Given the description of an element on the screen output the (x, y) to click on. 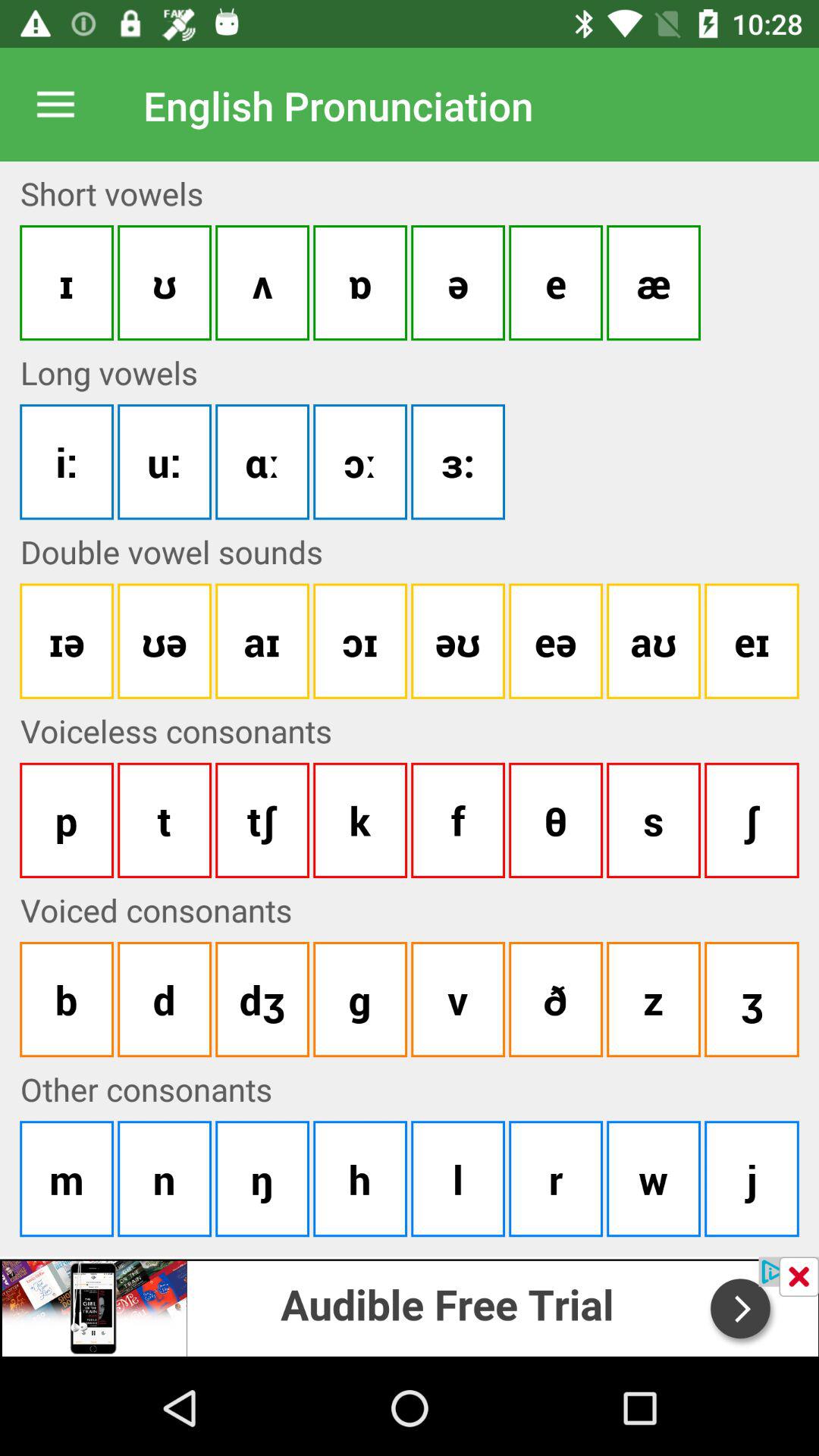
click on the 8th box with symbol below voiced consonants (751, 999)
select the third button under voiceless consonants (262, 819)
click on the sixth button under voiceless consonants (555, 999)
click on the 6th box with symbol below voiceless consonants (555, 819)
click on the button having the text j (751, 1178)
select the text g on the web page (359, 999)
